Given the description of an element on the screen output the (x, y) to click on. 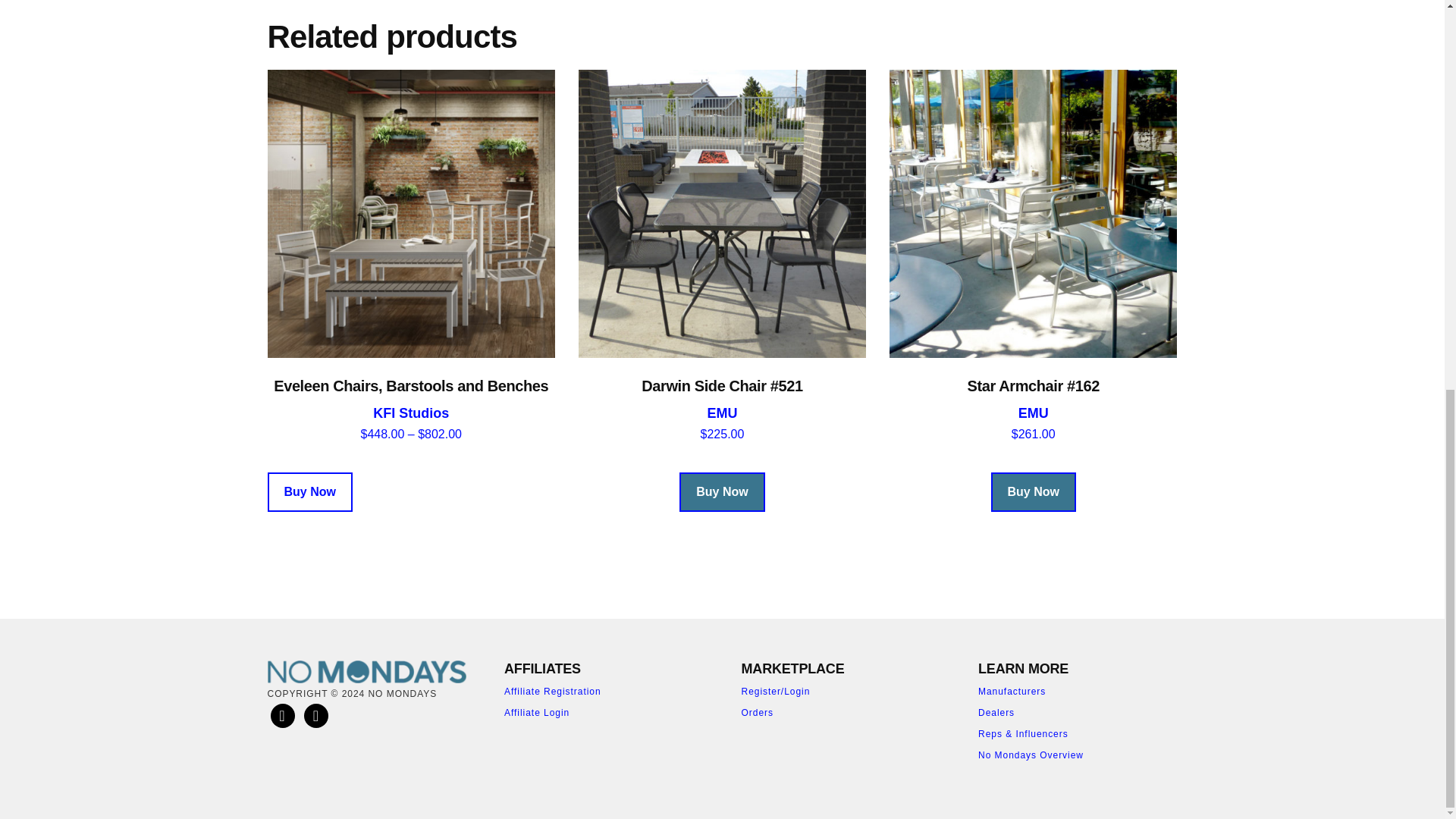
instagram (316, 715)
linkedin (281, 715)
Buy Now (721, 491)
Affiliate Login (536, 712)
Affiliate Registration (552, 691)
Orders (757, 712)
Buy Now (309, 491)
Buy Now (1033, 491)
Manufacturers (1011, 691)
